Given the description of an element on the screen output the (x, y) to click on. 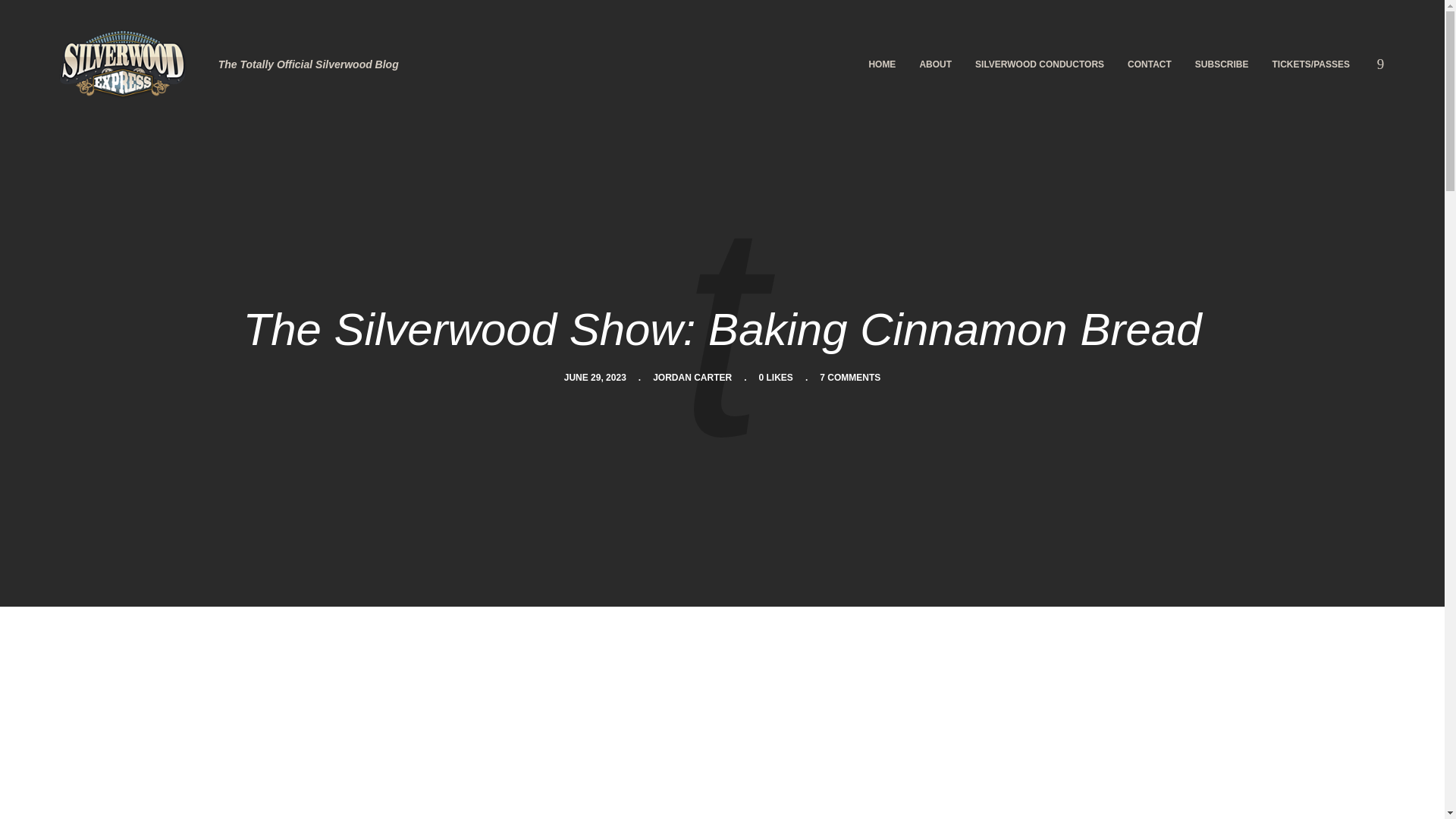
HOME (882, 63)
Like (775, 377)
SUBSCRIBE (1221, 63)
Silverwood Express (122, 63)
JUNE 29, 2023 (595, 377)
YouTube video player (721, 735)
7 COMMENTS (849, 377)
0 LIKES (775, 377)
ABOUT (934, 63)
JORDAN CARTER (692, 377)
